Given the description of an element on the screen output the (x, y) to click on. 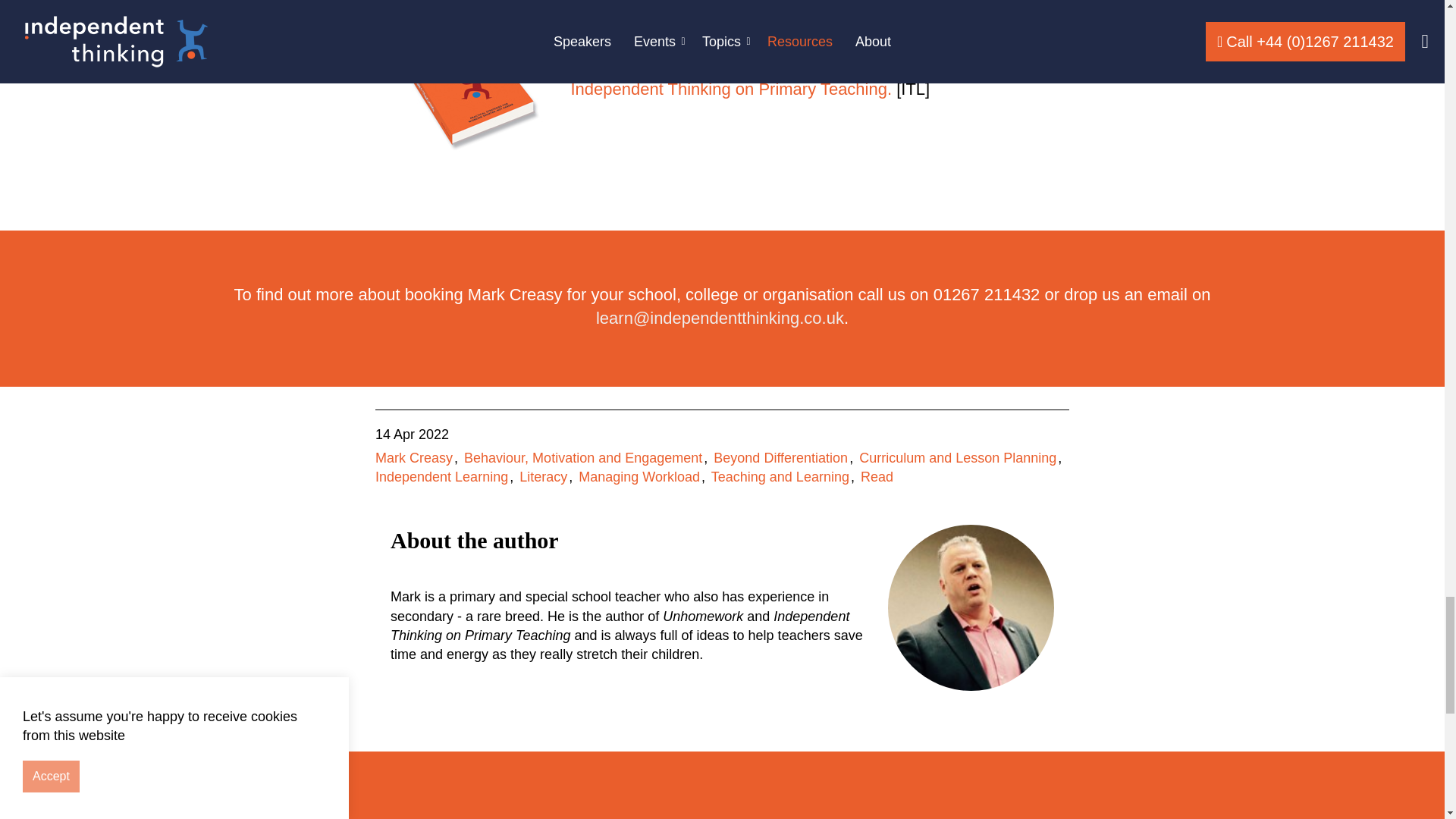
Curriculum and Lesson Planning (958, 458)
Read (876, 476)
Independent Learning (441, 476)
Behaviour, Motivation and Engagement (582, 458)
Mark Creasy (413, 458)
Independent Thinking on Primary Teaching. (730, 88)
Literacy (543, 476)
Beyond Differentiation (780, 458)
Curriculum and Lesson Planning (958, 458)
Managing Workload (639, 476)
